Given the description of an element on the screen output the (x, y) to click on. 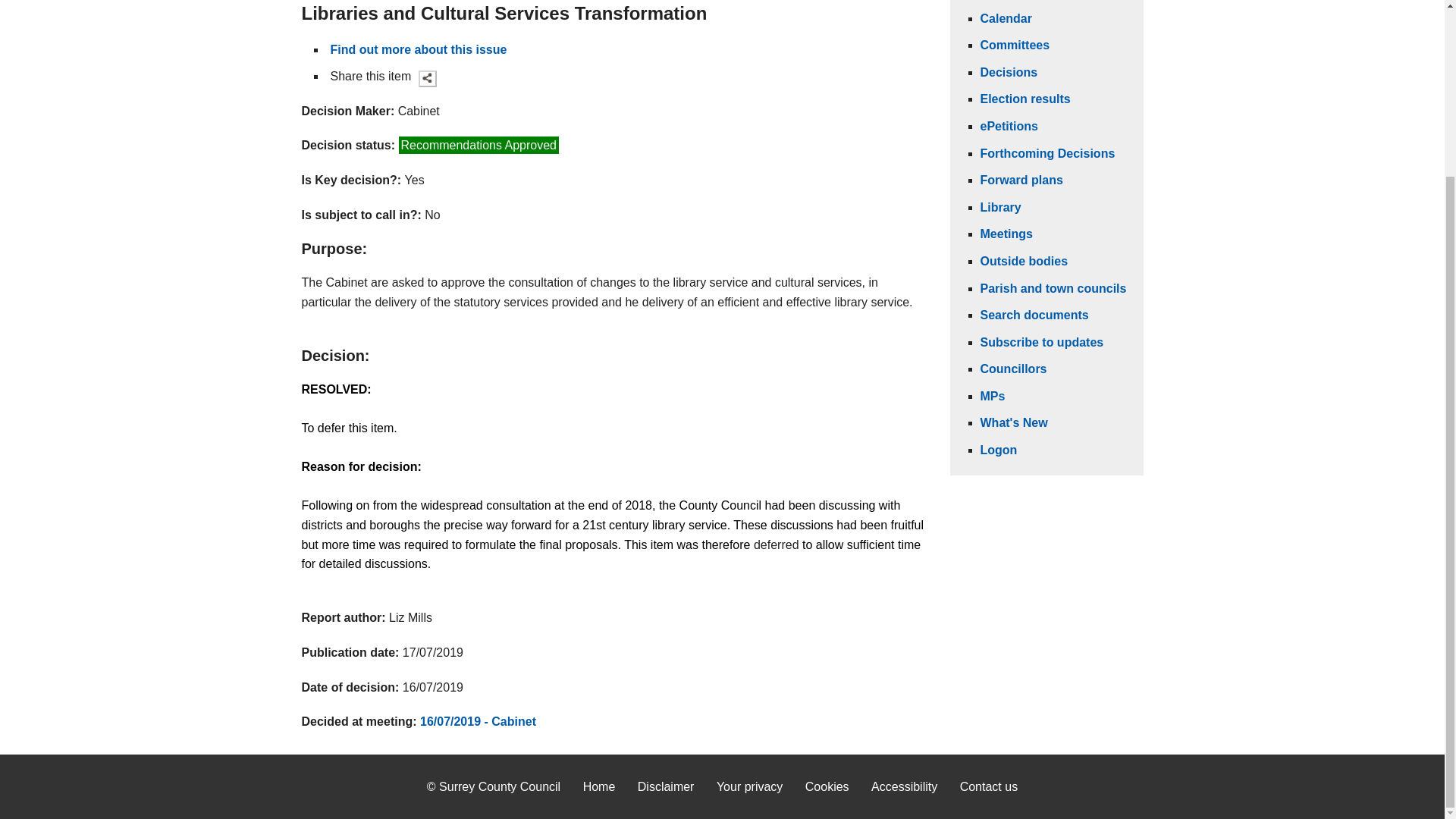
Decisions (1007, 72)
Logon (997, 449)
Link to free text search (1033, 314)
Link to committee meetings (1005, 233)
Link to Forthcoming Decisions (1047, 153)
Link to documents library (999, 206)
Find out more about this issue (418, 49)
Search documents (1033, 314)
Accessibility (903, 786)
Councillors (1012, 368)
Link to Forward Plans (1020, 179)
Calendar (1004, 18)
Election results (1024, 98)
Committees (1014, 44)
